Given the description of an element on the screen output the (x, y) to click on. 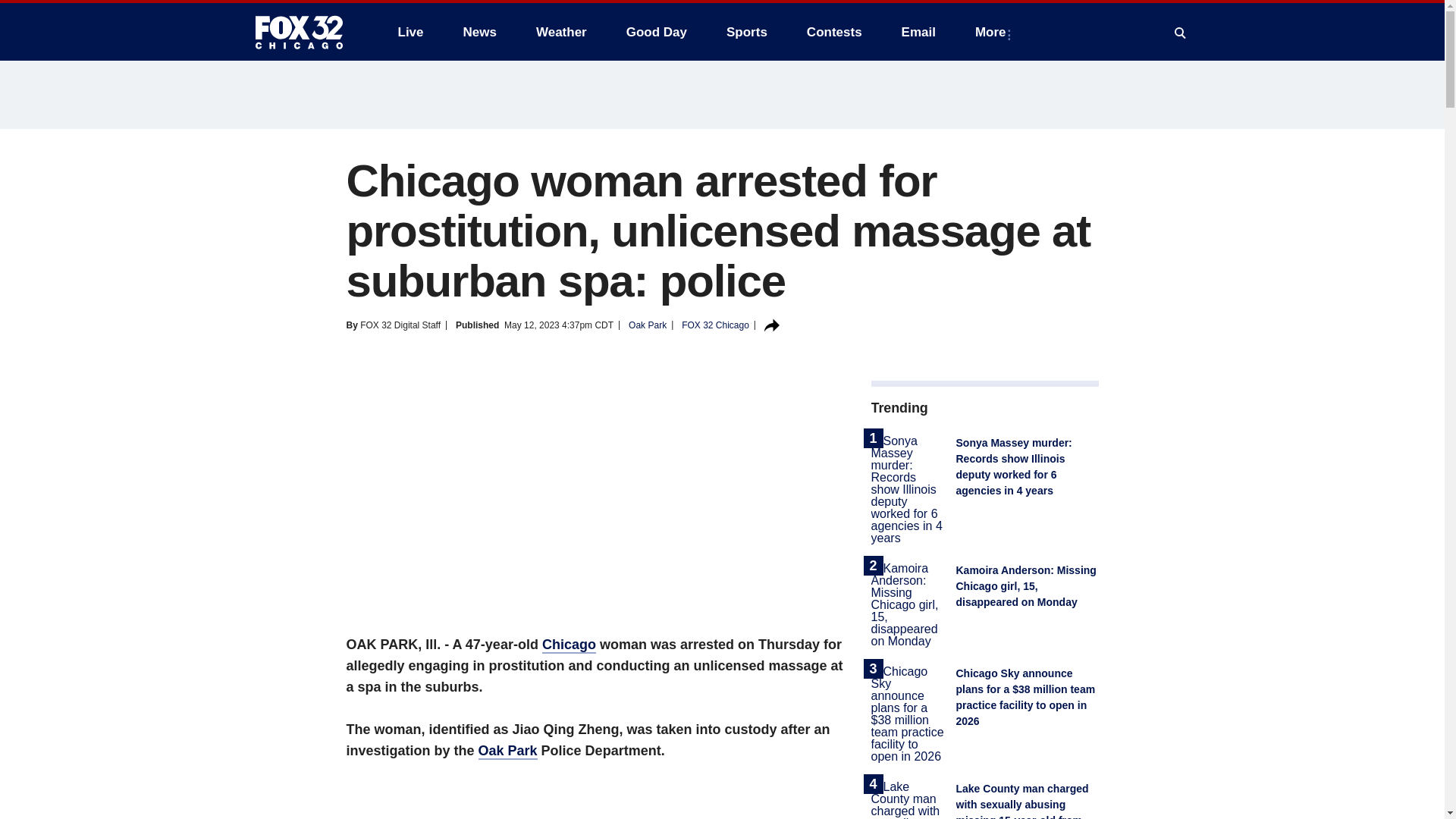
Weather (561, 32)
Email (918, 32)
News (479, 32)
Sports (746, 32)
More (993, 32)
Good Day (656, 32)
Contests (834, 32)
Live (410, 32)
